Given the description of an element on the screen output the (x, y) to click on. 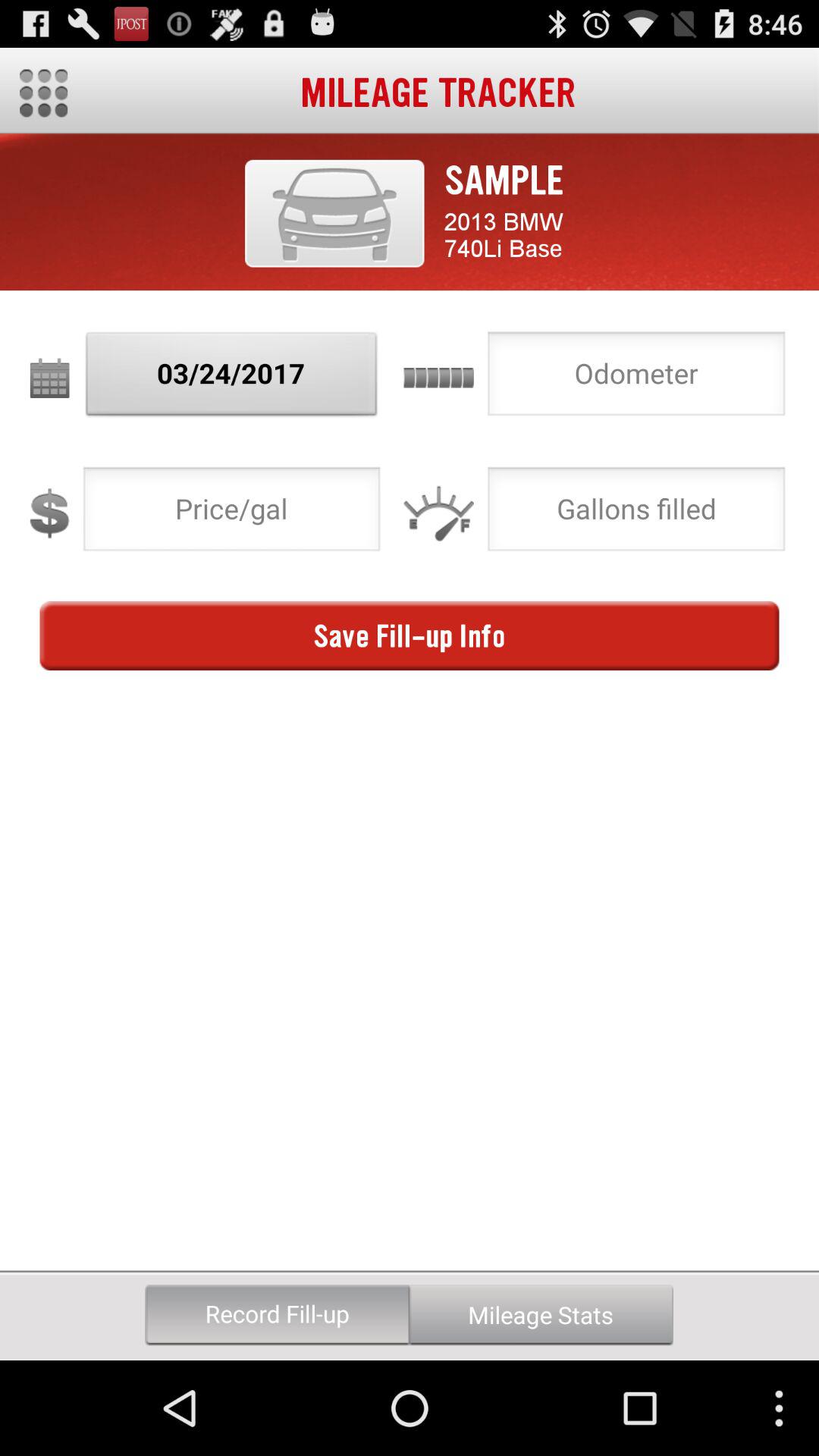
click for more information (334, 213)
